Given the description of an element on the screen output the (x, y) to click on. 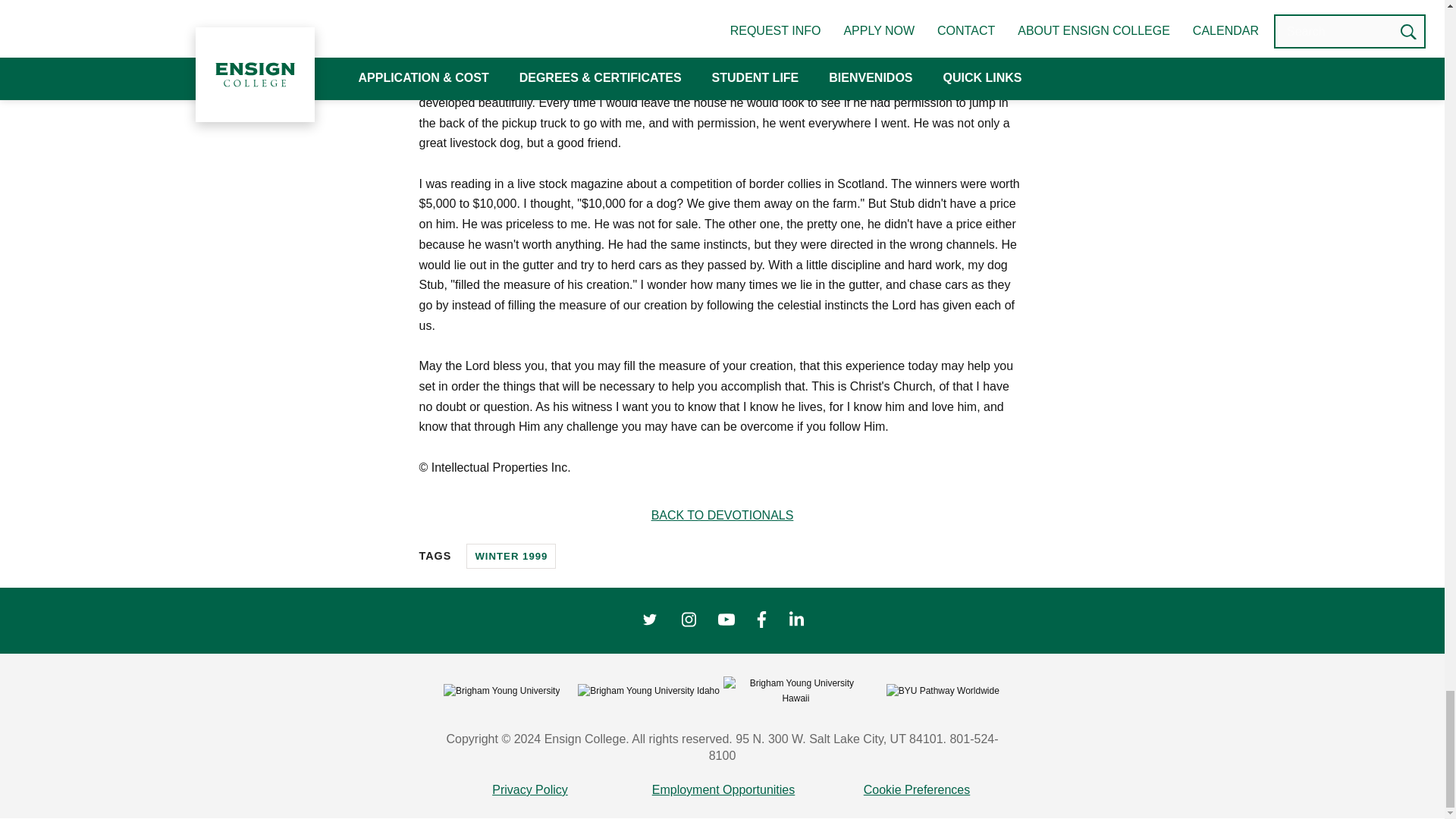
Employment Opportunities (723, 790)
Link to twitter (649, 620)
BACK TO DEVOTIONALS (721, 516)
Cookie Preferences (917, 790)
Privacy Policy (529, 790)
